Given the description of an element on the screen output the (x, y) to click on. 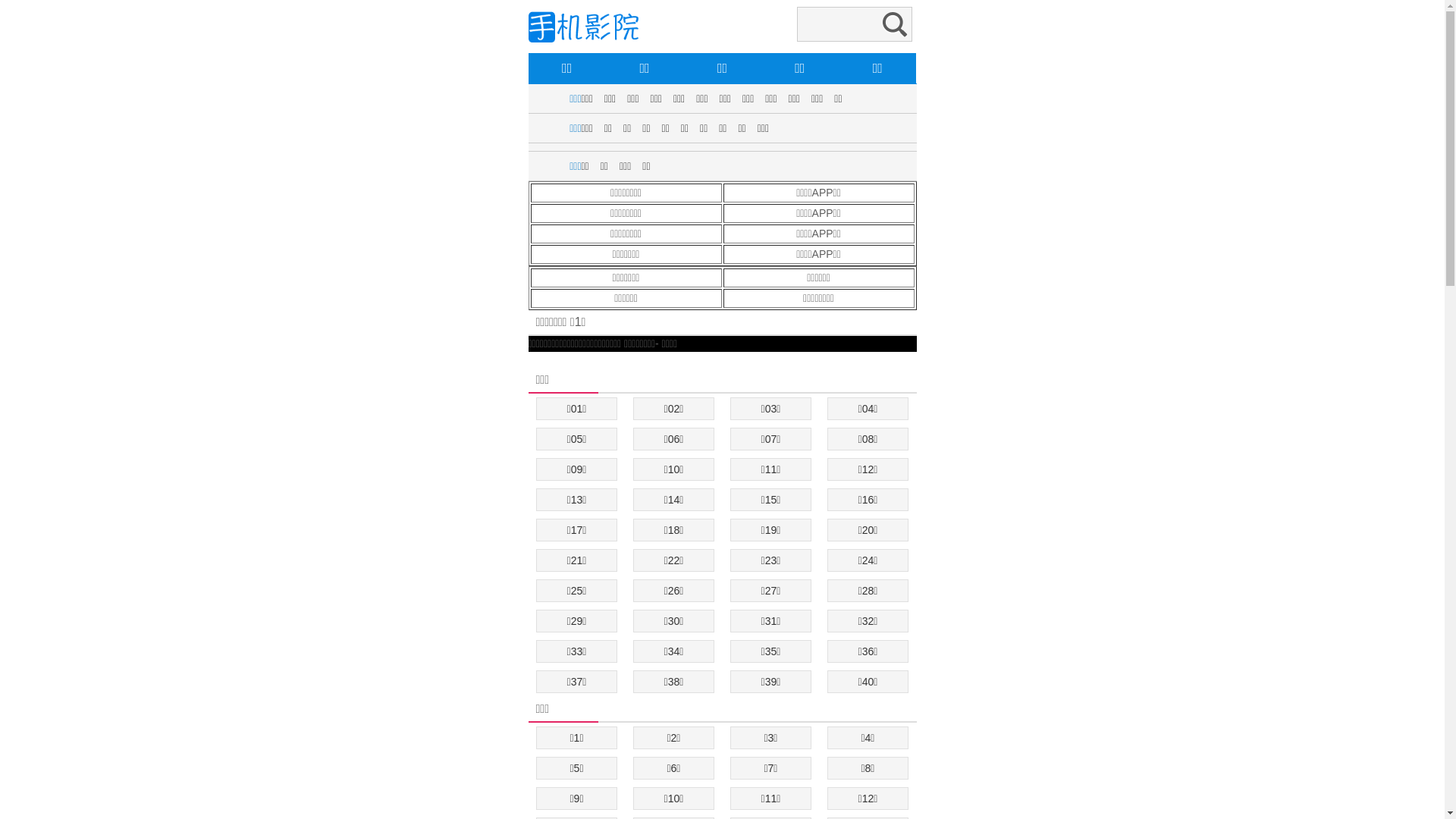
  Element type: text (528, 359)
